Given the description of an element on the screen output the (x, y) to click on. 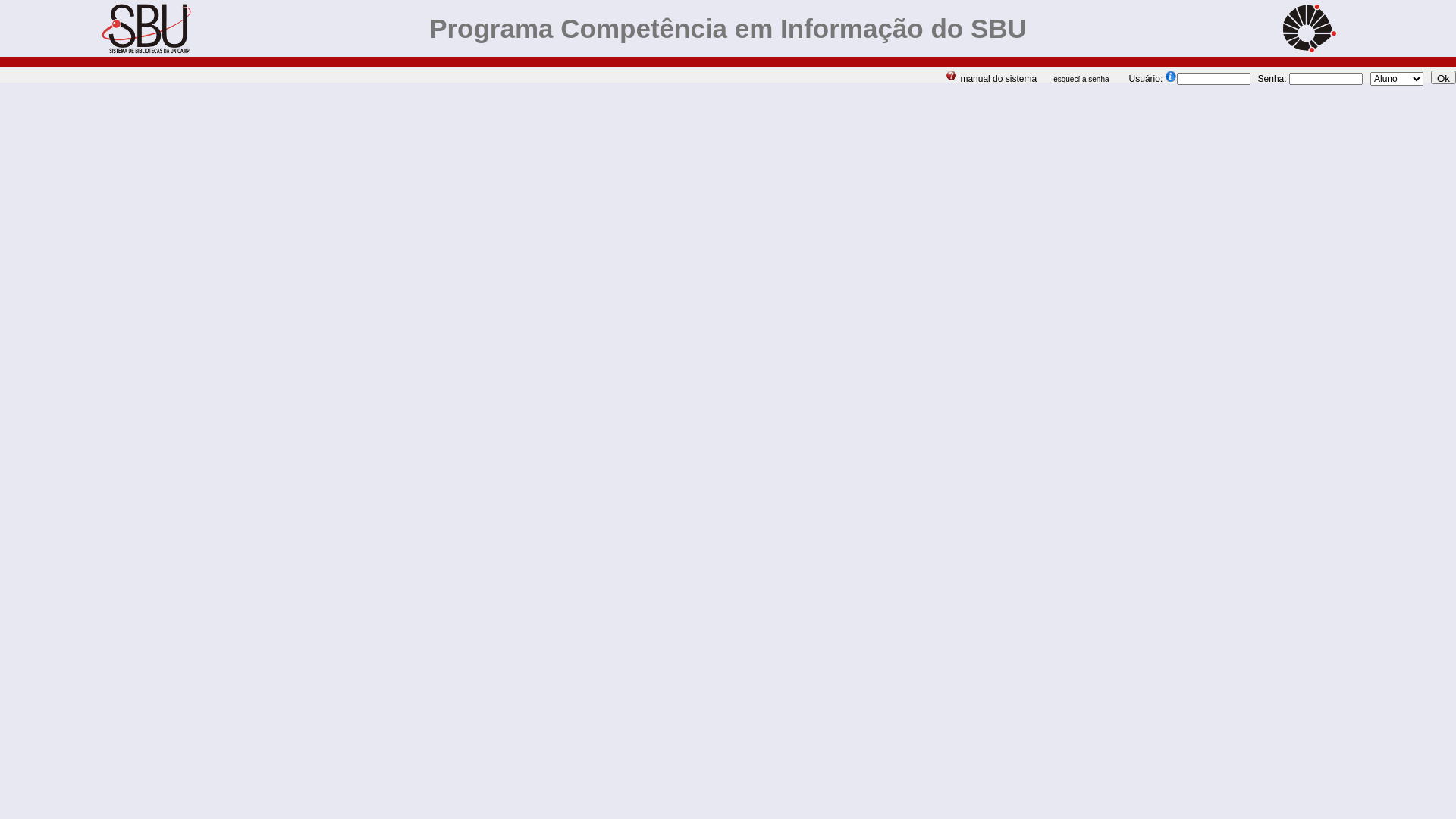
Unicamp Element type: hover (1309, 28)
SBU Element type: hover (145, 28)
 manual do sistema Element type: text (990, 78)
